Given the description of an element on the screen output the (x, y) to click on. 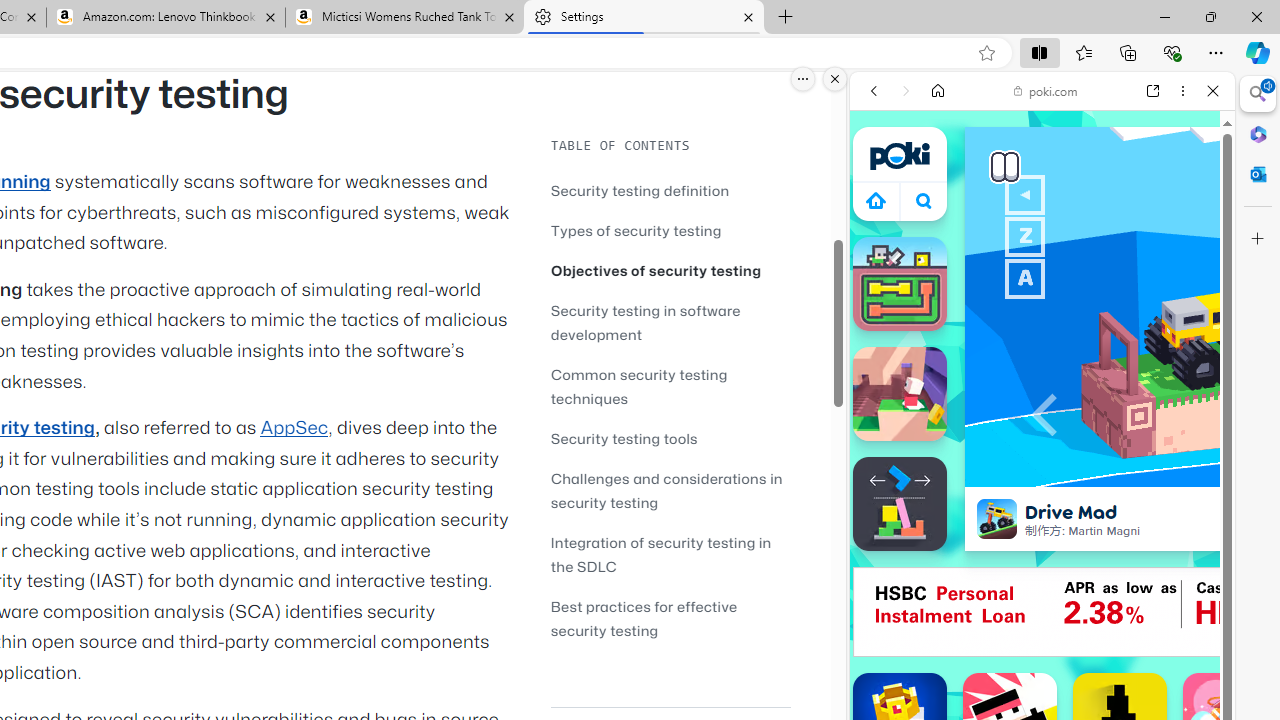
WEB   (882, 228)
Best practices for effective security testing (670, 618)
Show More Two Player Games (1164, 570)
More options. (803, 79)
Stacktris Stacktris (899, 503)
Class: aprWdaSScyiJf4Jvmsx9 (875, 200)
Two Player Games (1042, 568)
Types of security testing (670, 230)
